Given the description of an element on the screen output the (x, y) to click on. 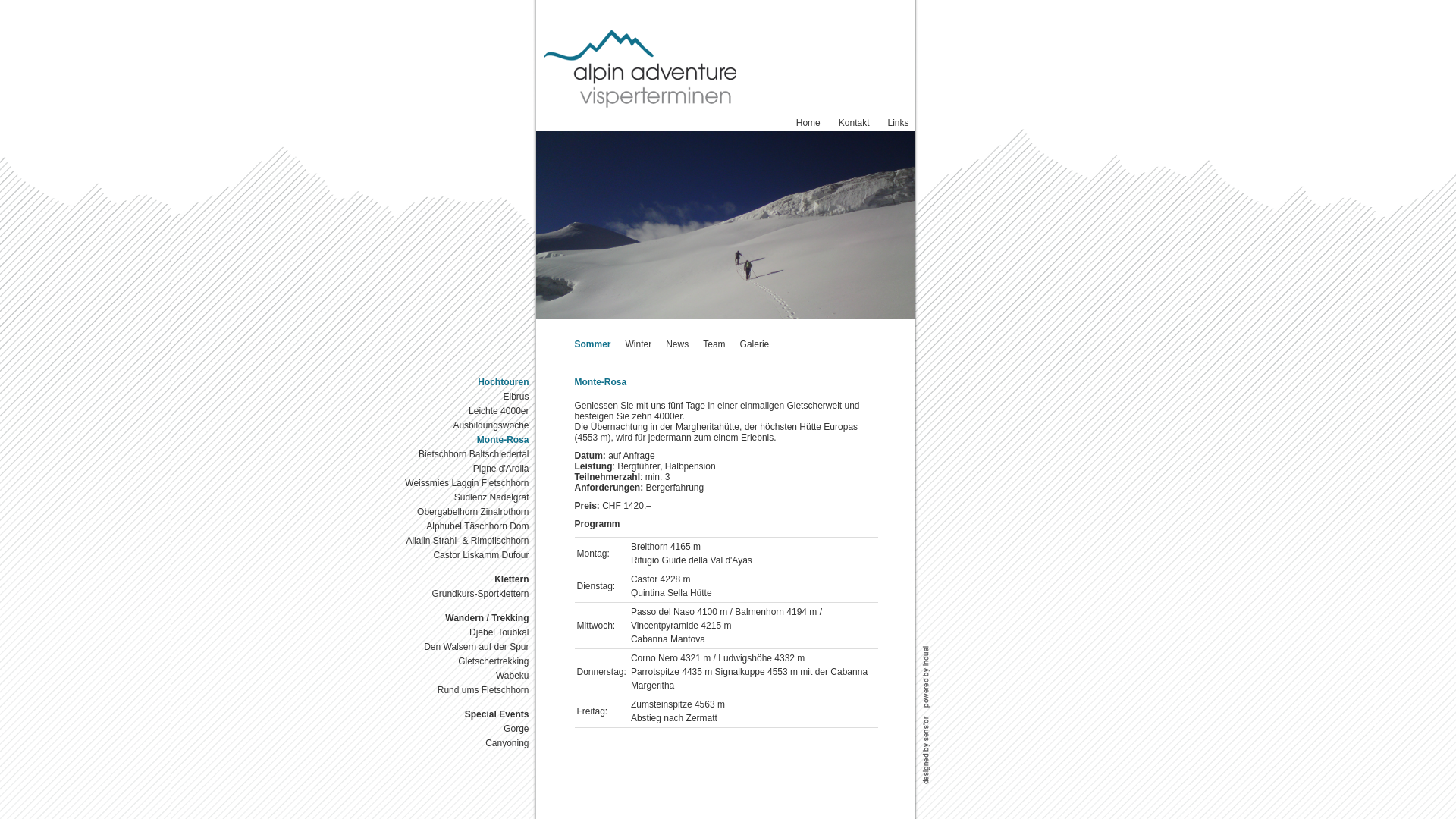
Canyoning Element type: text (463, 743)
Gorge Element type: text (463, 728)
Gletschertrekking Element type: text (463, 661)
Sommer Element type: text (592, 343)
Monte-Rosa Element type: text (463, 440)
Grundkurs-Sportklettern Element type: text (463, 593)
Links Element type: text (897, 122)
Special Events Element type: text (463, 714)
Bietschhorn Baltschiedertal Element type: text (463, 454)
Winter Element type: text (638, 343)
Djebel Toubkal Element type: text (463, 632)
Hochtouren Element type: text (463, 382)
Home Element type: text (808, 122)
Klettern Element type: text (463, 579)
Wandern / Trekking Element type: text (463, 618)
News Element type: text (676, 343)
Castor Liskamm Dufour Element type: text (463, 555)
Wabeku Element type: text (463, 675)
Obergabelhorn Zinalrothorn Element type: text (463, 512)
Rund ums Fletschhorn Element type: text (463, 690)
Den Walsern auf der Spur Element type: text (463, 647)
Leichte 4000er Element type: text (463, 411)
Weissmies Laggin Fletschhorn Element type: text (463, 483)
Ausbildungswoche Element type: text (463, 425)
Pigne d'Arolla Element type: text (463, 468)
Allalin Strahl- & Rimpfischhorn Element type: text (463, 540)
Team Element type: text (713, 343)
Elbrus Element type: text (463, 396)
Kontakt Element type: text (853, 122)
Galerie Element type: text (754, 343)
